Given the description of an element on the screen output the (x, y) to click on. 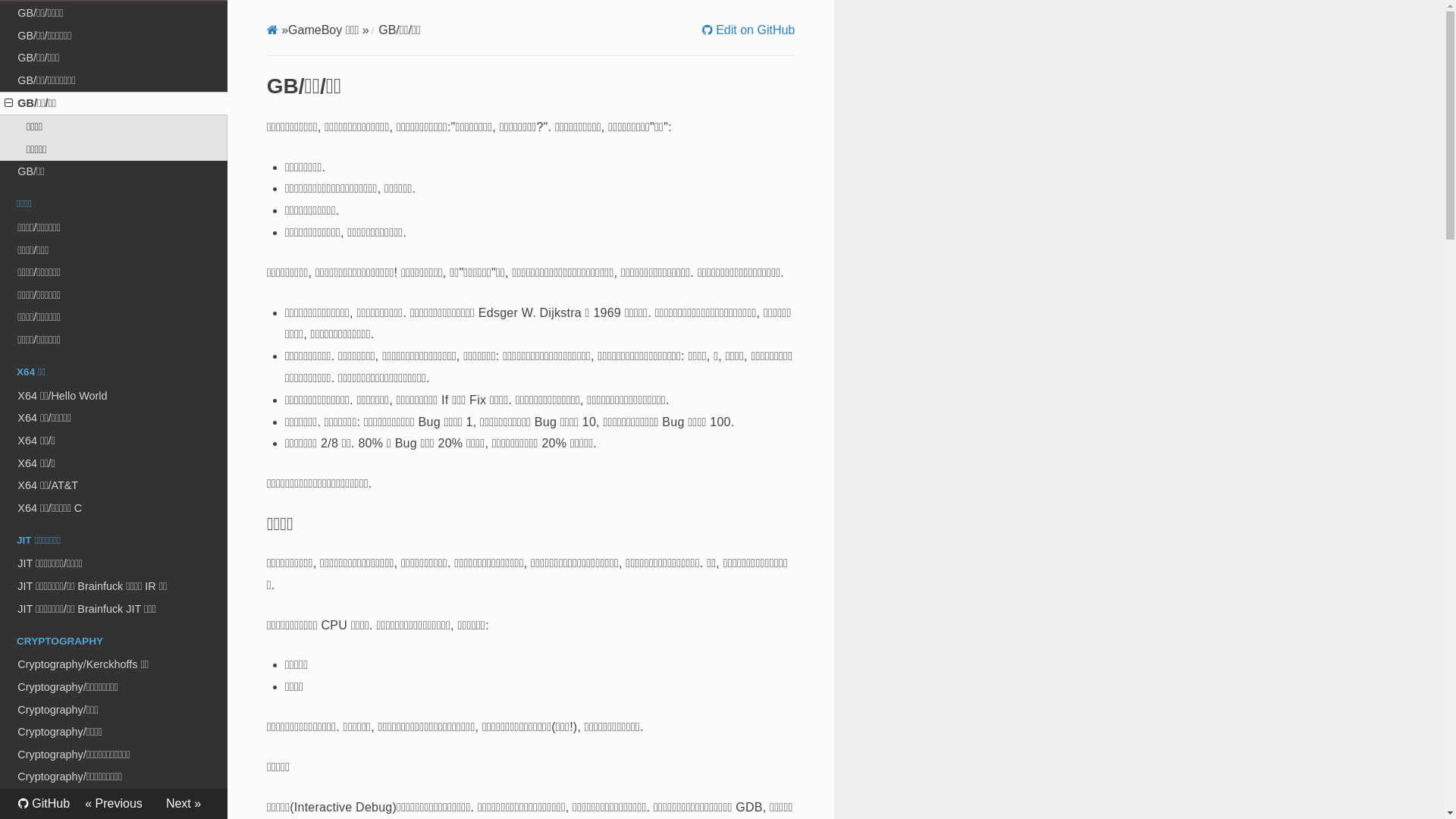
GitHub Element type: text (43, 803)
Edit on GitHub Element type: text (748, 29)
Open/close menu Element type: hover (8, 102)
